Given the description of an element on the screen output the (x, y) to click on. 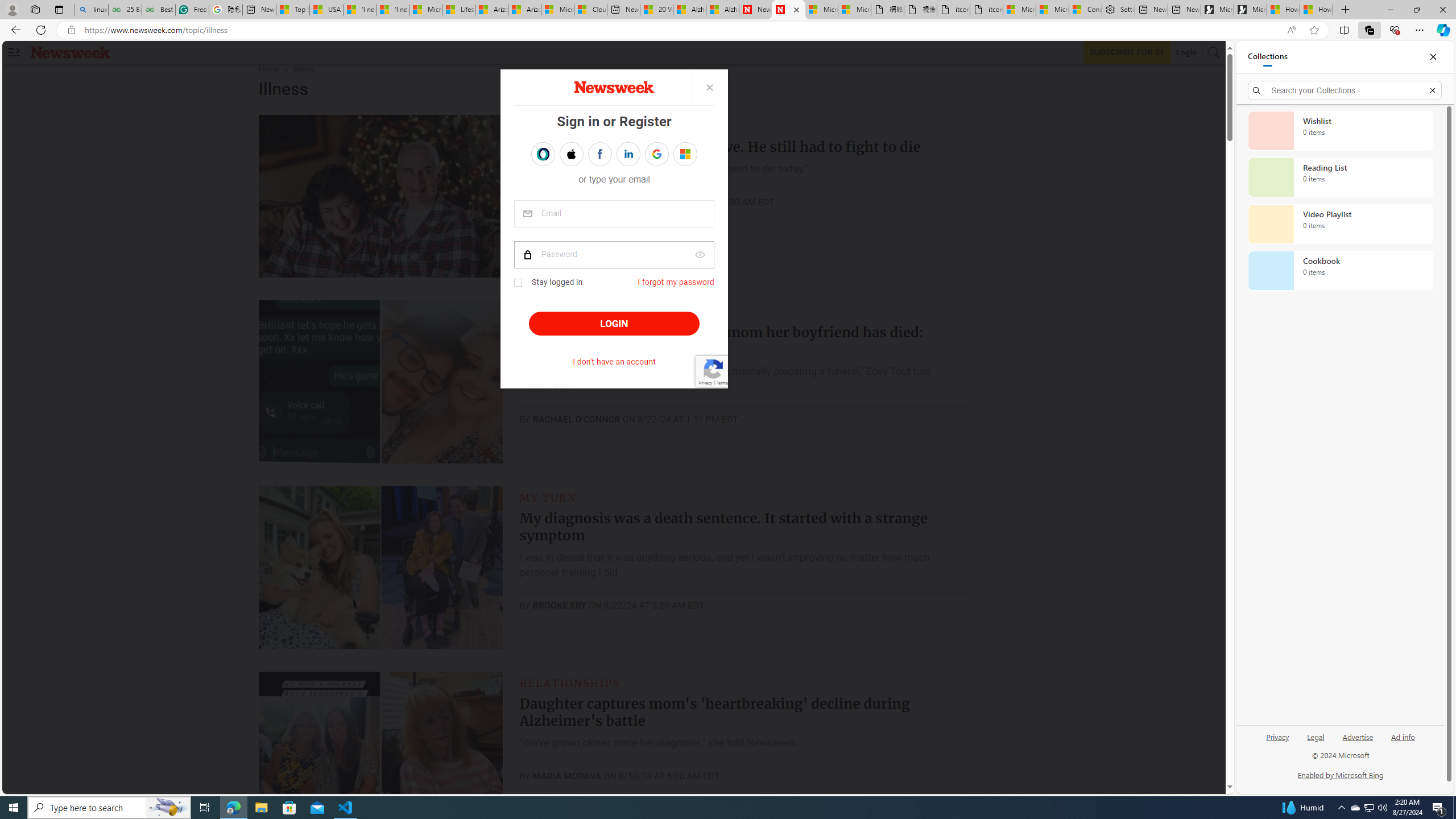
Exit search (1432, 90)
LOGIN (613, 323)
Lifestyle - MSN (458, 9)
itconcepthk.com/projector_solutions.mp4 (986, 9)
Consumer Health Data Privacy Policy (1085, 9)
Search your Collections (1345, 90)
